Given the description of an element on the screen output the (x, y) to click on. 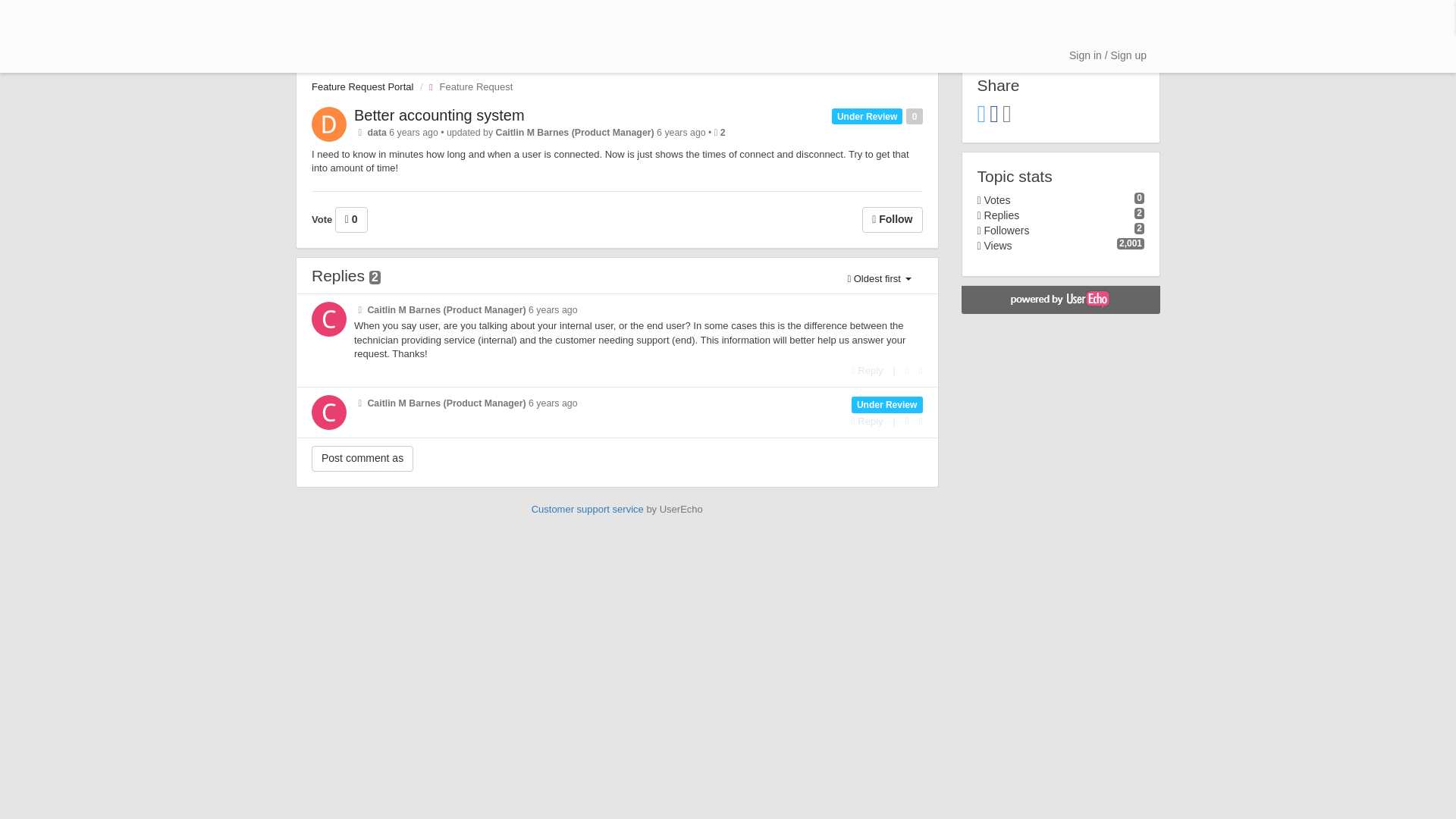
Reply (867, 420)
data (375, 132)
6 years ago (553, 309)
Oldest first (878, 279)
Post comment as (362, 458)
0 (351, 219)
Reply (867, 369)
Better accounting system (438, 115)
Follow (891, 219)
Feature Request (467, 86)
Feature Request Portal (362, 86)
6 years ago (553, 403)
Post comment as (362, 458)
Customer support service (587, 509)
